Given the description of an element on the screen output the (x, y) to click on. 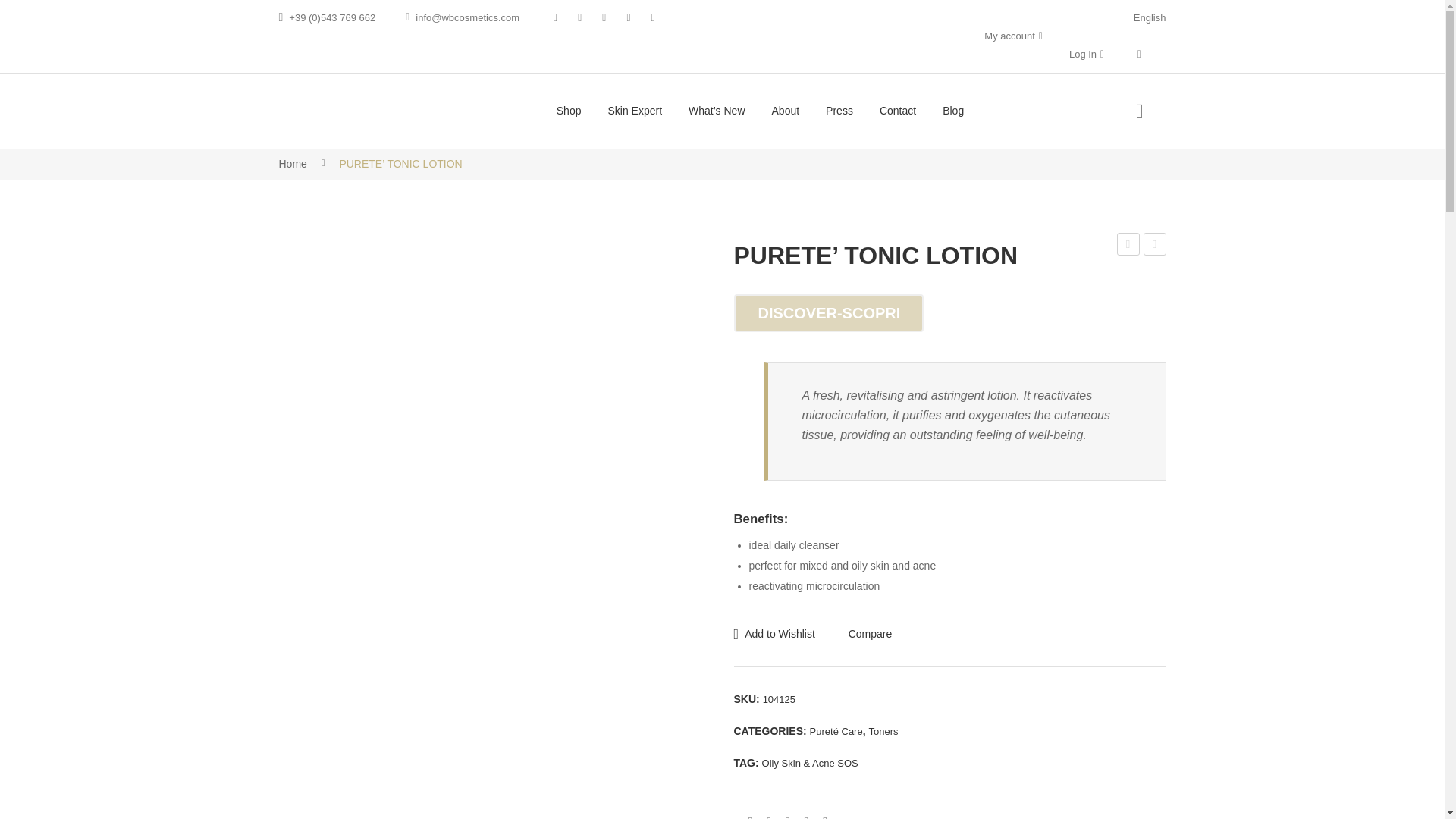
English (1150, 18)
English (1150, 18)
Log In (1082, 53)
cropped-LOGO-WB-ORO (354, 110)
